Given the description of an element on the screen output the (x, y) to click on. 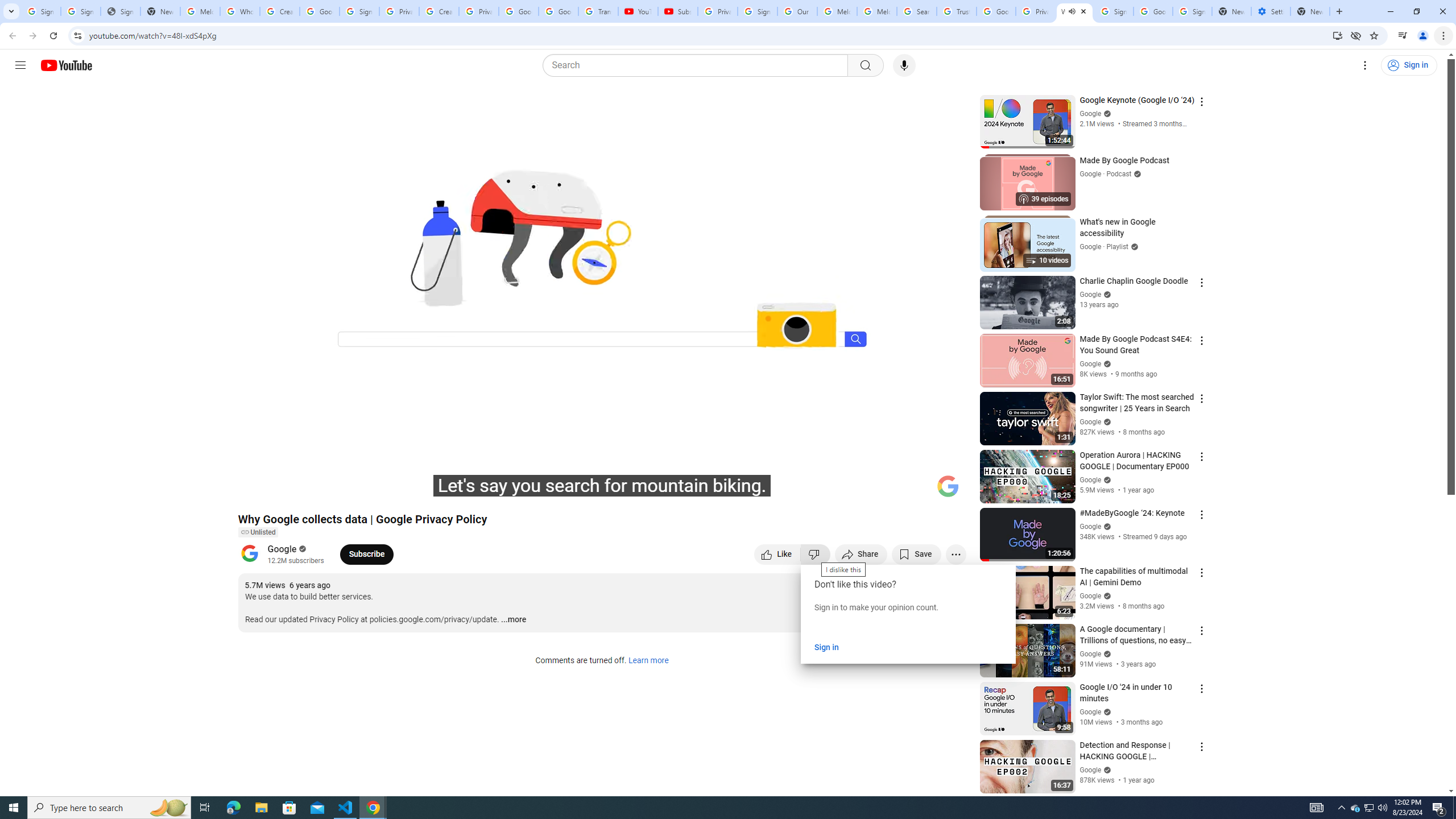
...more (512, 620)
Search our Doodle Library Collection - Google Doodles (916, 11)
Who is my administrator? - Google Account Help (239, 11)
Learn more (647, 661)
Create your Google Account (279, 11)
Subtitles/closed captions unavailable (836, 490)
